Given the description of an element on the screen output the (x, y) to click on. 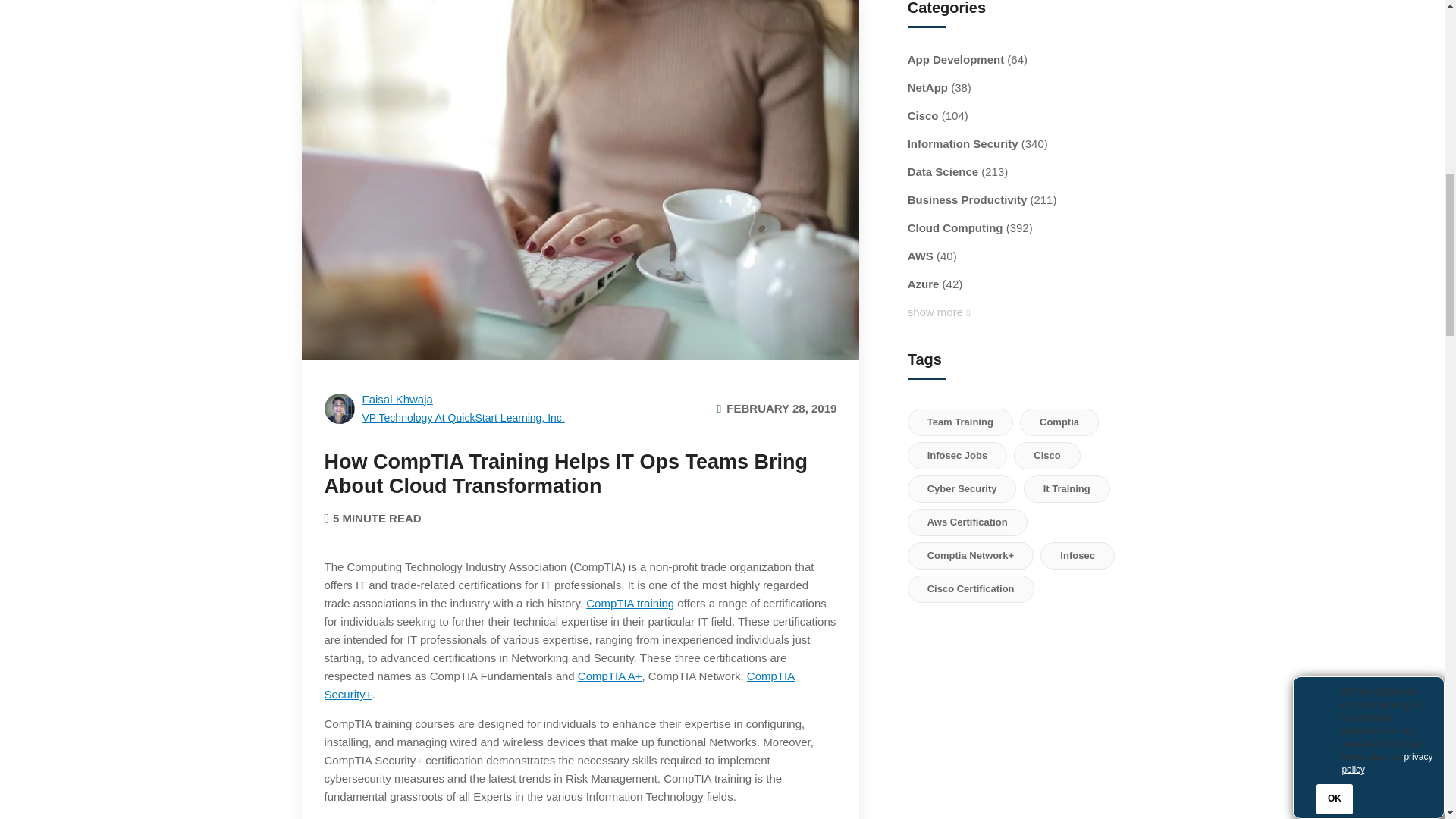
Cisco (923, 116)
Information Security (962, 144)
Cloud Computing (955, 228)
Business Productivity (967, 199)
App Development (955, 59)
NetApp (927, 87)
AWS (920, 256)
Data Science (942, 171)
Azure (923, 284)
Faisal Khwaja (444, 408)
